Given the description of an element on the screen output the (x, y) to click on. 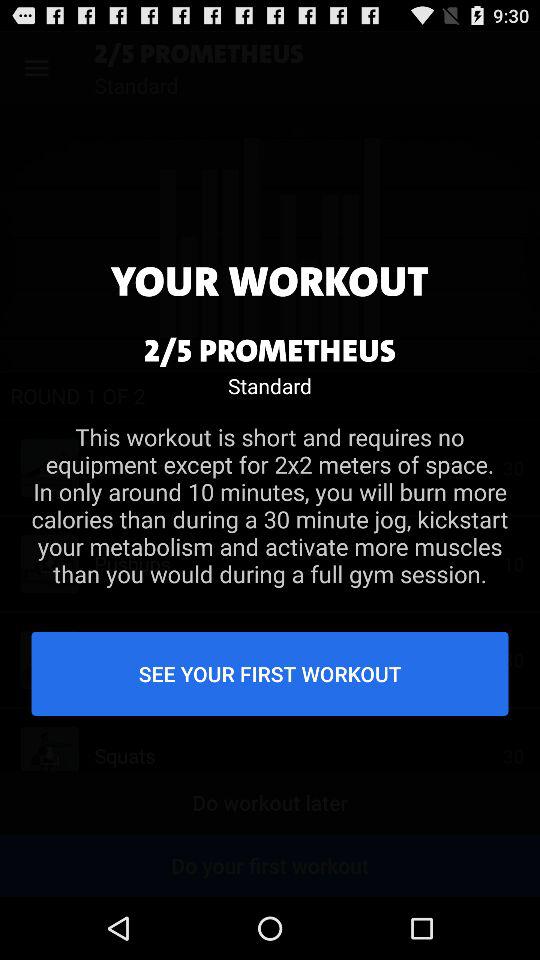
press icon below the this workout is item (269, 673)
